Given the description of an element on the screen output the (x, y) to click on. 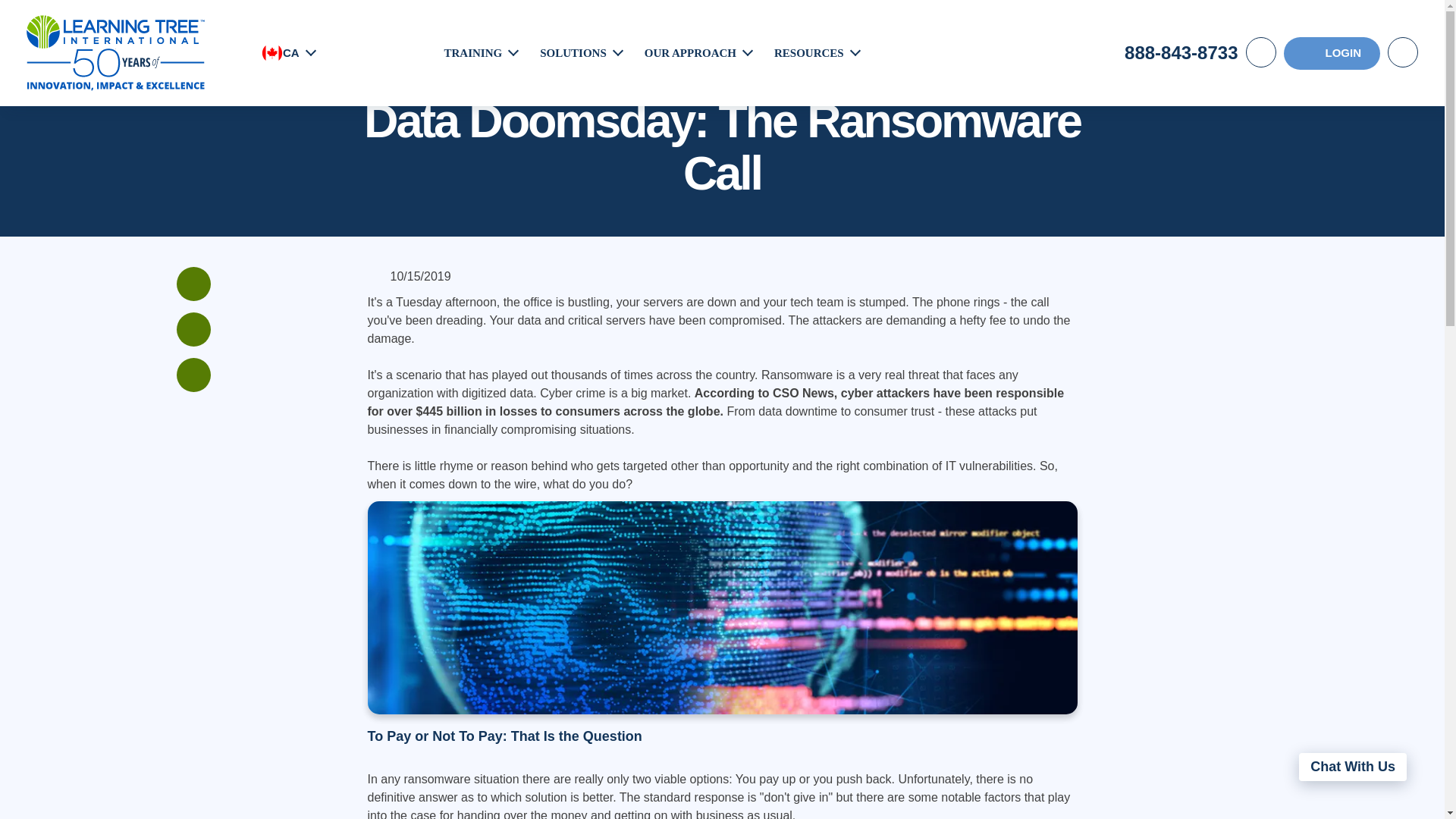
Share on Twitter (192, 374)
TRAINING (473, 52)
Share on Facebook (192, 283)
Share on LinkedIn (192, 329)
